Given the description of an element on the screen output the (x, y) to click on. 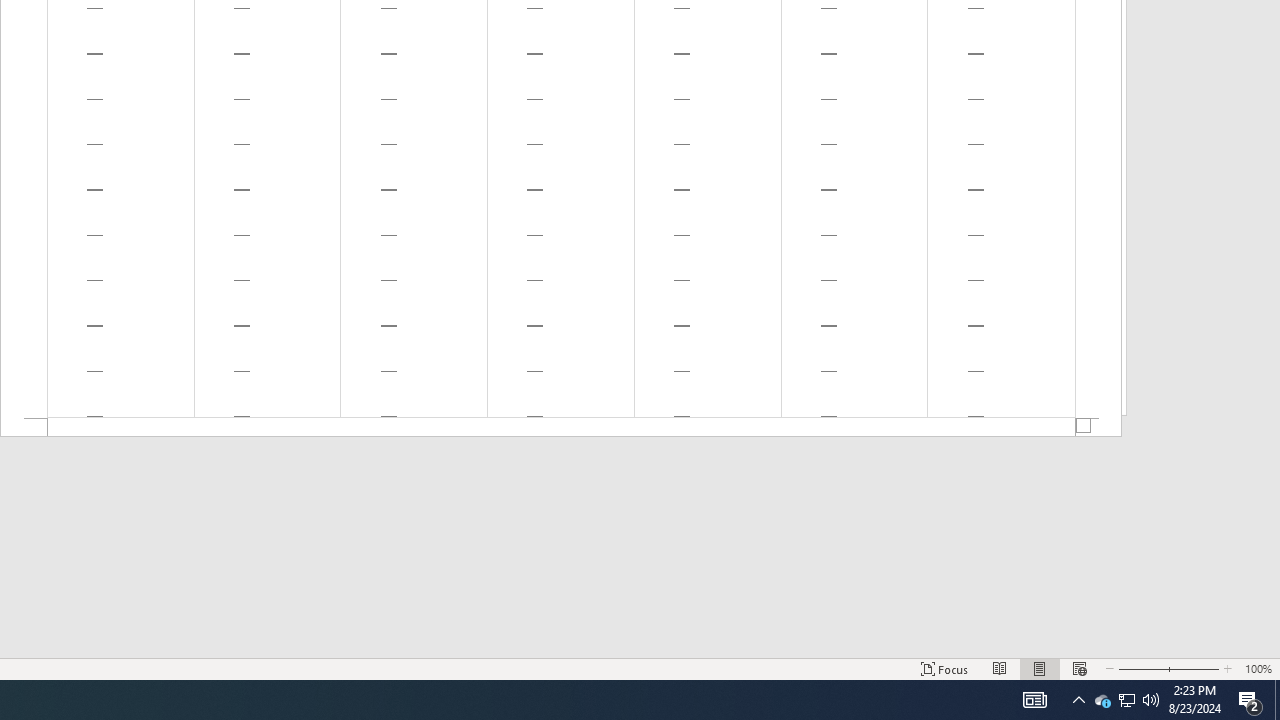
Print Layout (1039, 668)
Read Mode (1000, 668)
Zoom In (1195, 668)
Web Layout (1079, 668)
Footer -Section 1- (561, 427)
Zoom Out (1142, 668)
Focus  (944, 668)
